Given the description of an element on the screen output the (x, y) to click on. 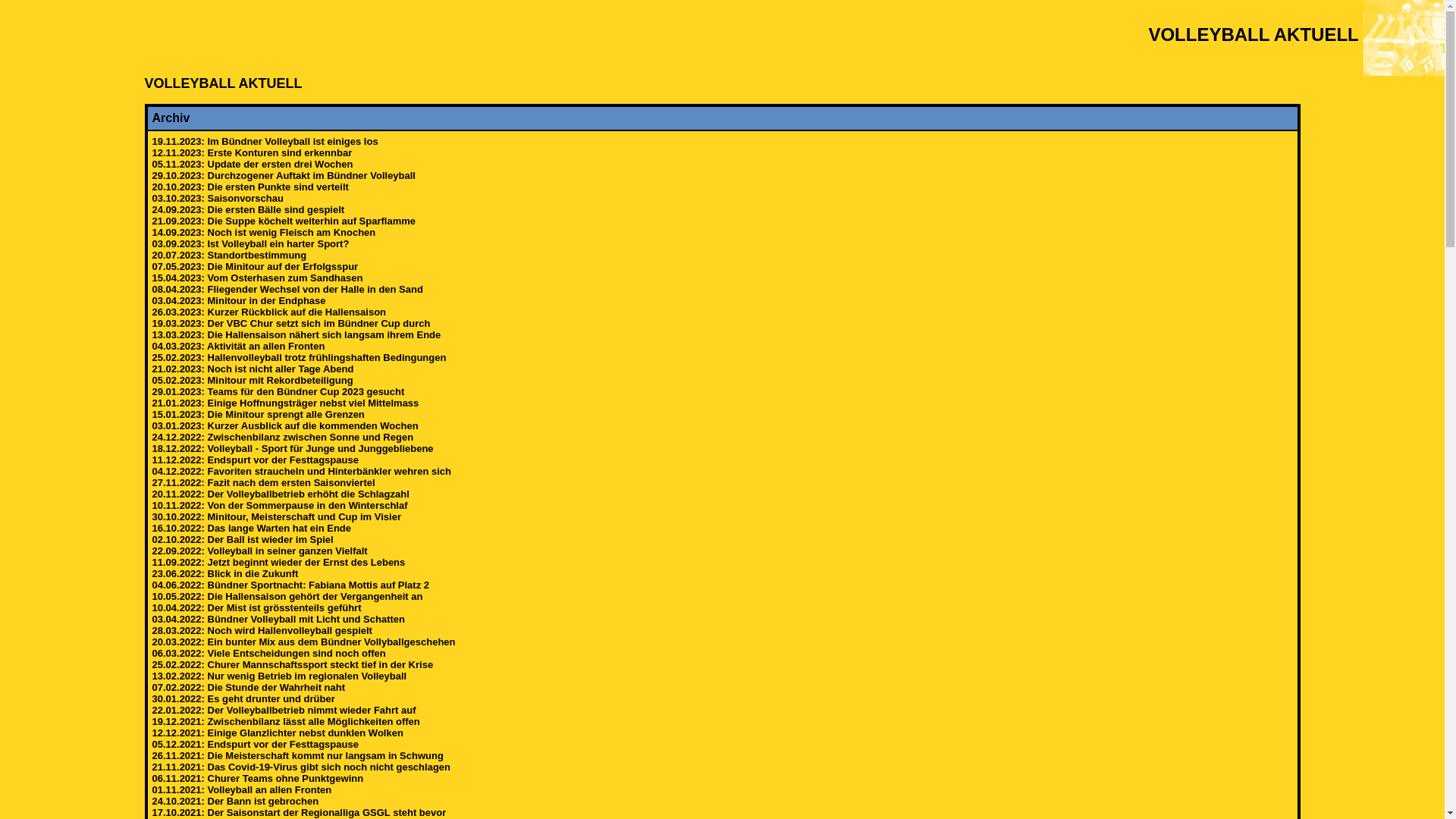
24.10.2021: Der Bann ist gebrochen Element type: text (234, 800)
13.02.2022: Nur wenig Betrieb im regionalen Volleyball Element type: text (278, 675)
21.02.2023: Noch ist nicht aller Tage Abend Element type: text (252, 368)
07.02.2022: Die Stunde der Wahrheit naht Element type: text (248, 687)
20.07.2023: Standortbestimmung Element type: text (228, 254)
03.04.2023: Minitour in der Endphase Element type: text (238, 300)
24.12.2022: Zwischenbilanz zwischen Sonne und Regen Element type: text (282, 436)
02.10.2022: Der Ball ist wieder im Spiel Element type: text (241, 539)
05.02.2023: Minitour mit Rekordbeteiligung Element type: text (251, 379)
20.10.2023: Die ersten Punkte sind verteilt Element type: text (249, 186)
15.01.2023: Die Minitour sprengt alle Grenzen Element type: text (257, 414)
10.11.2022: Von der Sommerpause in den Winterschlaf Element type: text (279, 505)
11.12.2022: Endspurt vor der Festtagspause Element type: text (254, 459)
01.11.2021: Volleyball an allen Fronten Element type: text (241, 789)
25.02.2022: Churer Mannschaftssport steckt tief in der Krise Element type: text (292, 664)
03.10.2023: Saisonvorschau Element type: text (216, 197)
06.03.2022: Viele Entscheidungen sind noch offen Element type: text (268, 652)
14.09.2023: Noch ist wenig Fleisch am Knochen Element type: text (263, 232)
03.09.2023: Ist Volleyball ein harter Sport? Element type: text (249, 243)
28.03.2022: Noch wird Hallenvolleyball gespielt Element type: text (261, 630)
03.01.2023: Kurzer Ausblick auf die kommenden Wochen Element type: text (284, 425)
15.04.2023: Vom Osterhasen zum Sandhasen Element type: text (256, 277)
05.12.2021: Endspurt vor der Festtagspause Element type: text (254, 743)
23.06.2022: Blick in die Zukunft Element type: text (224, 573)
27.11.2022: Fazit nach dem ersten Saisonviertel Element type: text (262, 482)
16.10.2022: Das lange Warten hat ein Ende Element type: text (251, 527)
07.05.2023: Die Minitour auf der Erfolgsspur Element type: text (254, 266)
06.11.2021: Churer Teams ohne Punktgewinn Element type: text (257, 778)
11.09.2022: Jetzt beginnt wieder der Ernst des Lebens Element type: text (277, 561)
22.09.2022: Volleyball in seiner ganzen Vielfalt Element type: text (259, 550)
12.12.2021: Einige Glanzlichter nebst dunklen Wolken Element type: text (276, 732)
30.10.2022: Minitour, Meisterschaft und Cup im Visier Element type: text (275, 516)
22.01.2022: Der Volleyballbetrieb nimmt wieder Fahrt auf Element type: text (283, 709)
26.11.2021: Die Meisterschaft kommt nur langsam in Schwung Element type: text (296, 755)
05.11.2023: Update der ersten drei Wochen Element type: text (251, 163)
08.04.2023: Fliegender Wechsel von der Halle in den Sand Element type: text (286, 288)
12.11.2023: Erste Konturen sind erkennbar Element type: text (251, 152)
